Given the description of an element on the screen output the (x, y) to click on. 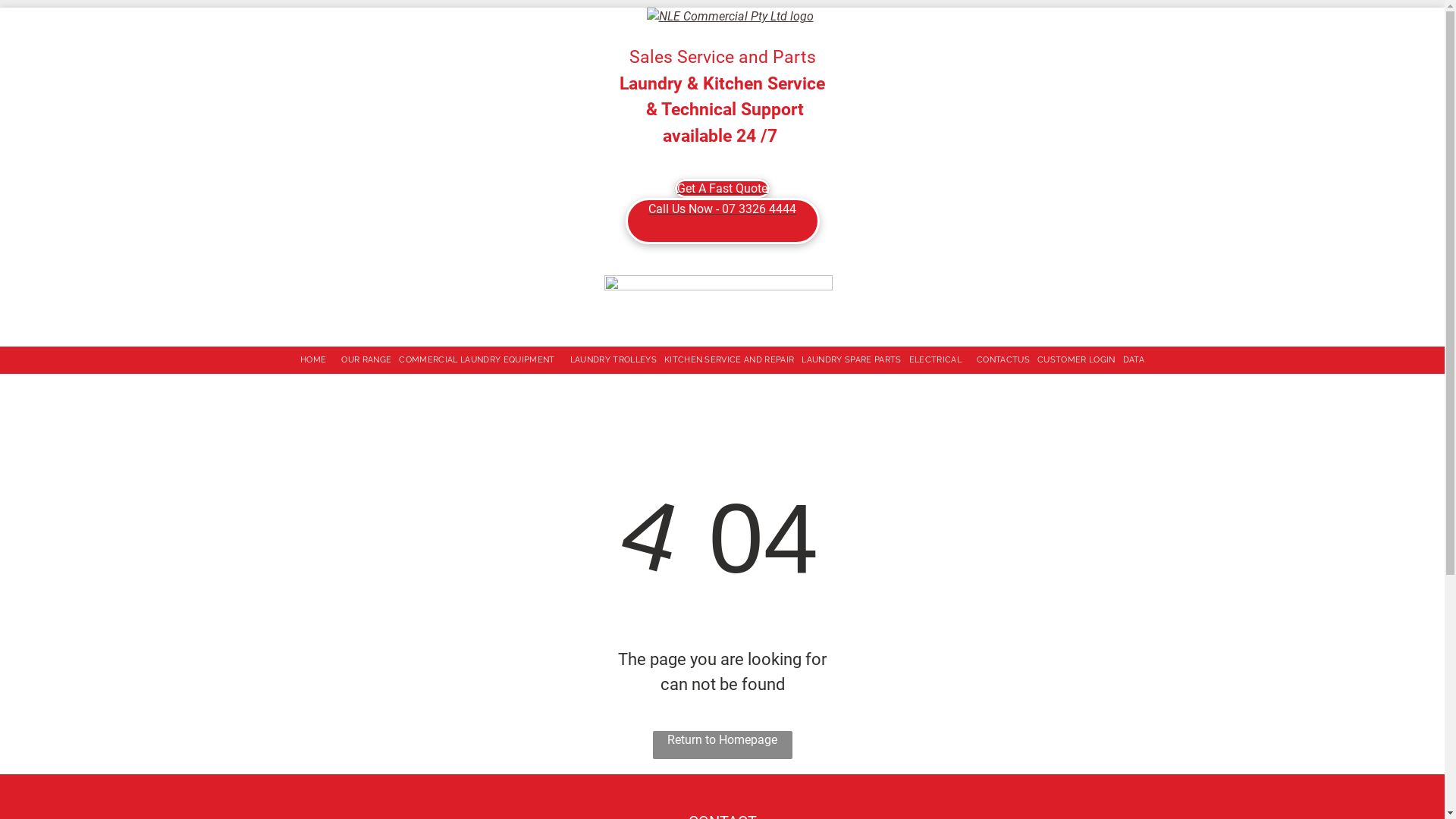
Get A Fast Quote Element type: text (721, 187)
Return to Homepage Element type: text (721, 745)
ELECTRICAL Element type: text (938, 360)
CONTACTUS Element type: text (1002, 360)
CUSTOMER LOGIN Element type: text (1076, 360)
LAUNDRY TROLLEYS Element type: text (613, 360)
HOME Element type: text (316, 360)
DATA Element type: text (1133, 360)
OUR RANGE Element type: text (366, 360)
LAUNDRY SPARE PARTS Element type: text (850, 360)
COMMERCIAL LAUNDRY EQUIPMENT Element type: text (480, 360)
KITCHEN SERVICE AND REPAIR Element type: text (729, 360)
Call Us Now - 07 3326 4444 Element type: text (721, 220)
